Given the description of an element on the screen output the (x, y) to click on. 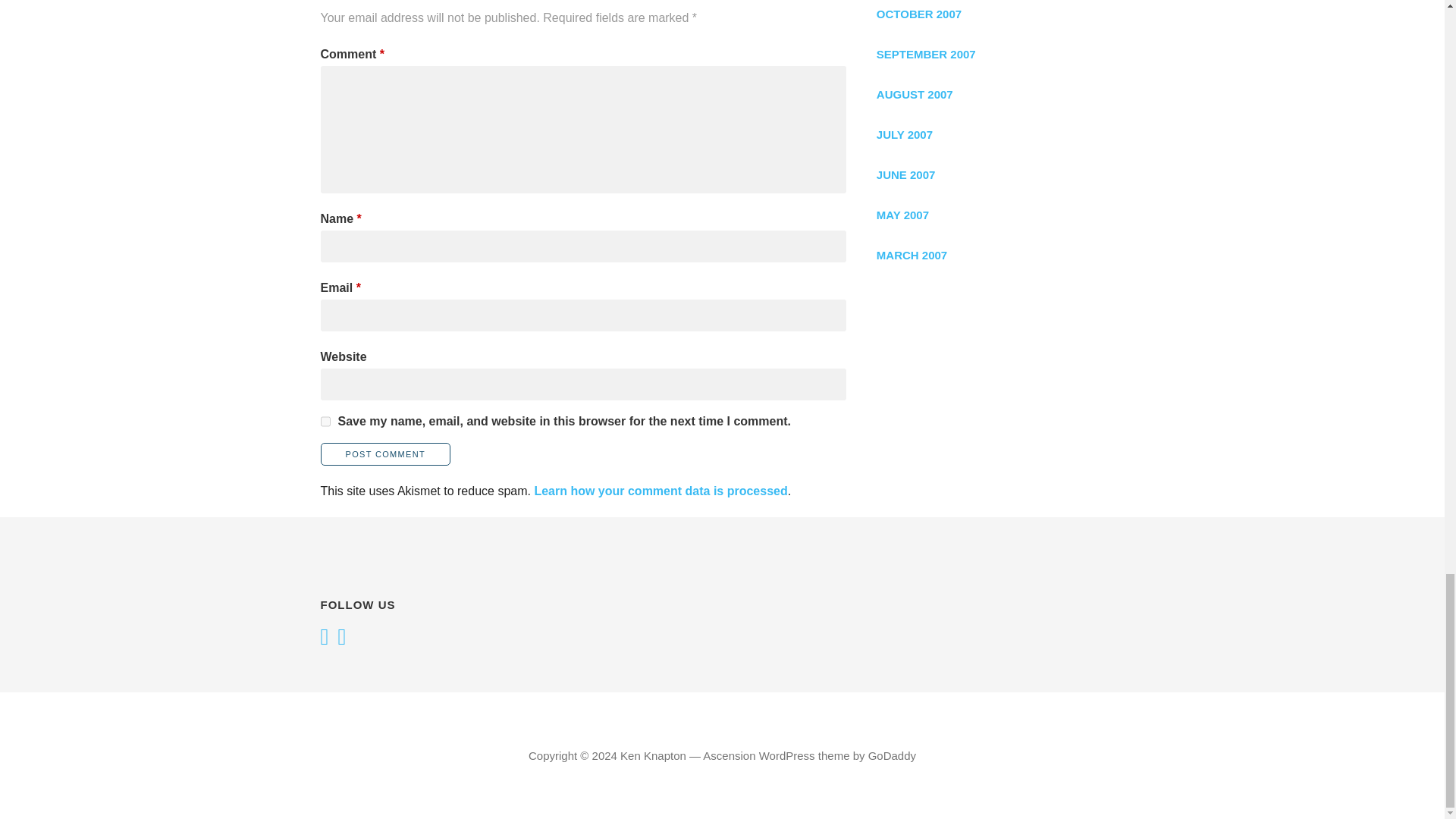
Post Comment (384, 454)
Post Comment (384, 454)
Learn how your comment data is processed (660, 490)
